Given the description of an element on the screen output the (x, y) to click on. 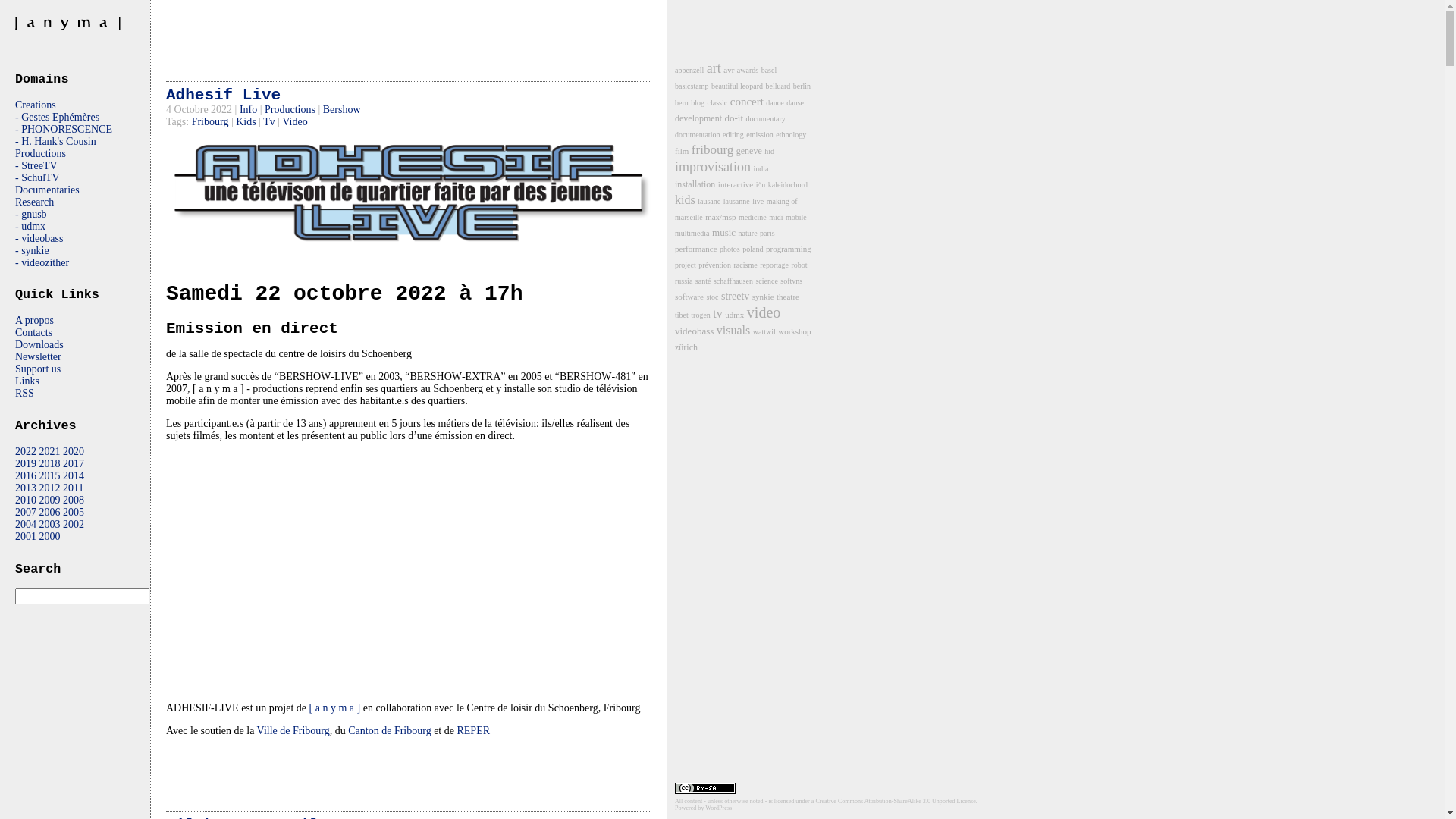
RSS Element type: text (24, 392)
- SchulTV Element type: text (37, 177)
2003 Element type: text (49, 524)
Canton de Fribourg Element type: text (389, 730)
2020 Element type: text (73, 451)
2015 Element type: text (49, 475)
2021 Element type: text (49, 451)
installation Element type: text (694, 183)
Fribourg Element type: text (210, 121)
documentation Element type: text (696, 134)
2008 Element type: text (73, 499)
making of Element type: text (781, 201)
- H. Hank's Cousin Element type: text (55, 141)
software Element type: text (688, 296)
2011 Element type: text (72, 487)
do-it Element type: text (733, 117)
india Element type: text (760, 168)
geneve Element type: text (749, 150)
Newsletter Element type: text (38, 356)
marseille Element type: text (688, 217)
reportage Element type: text (773, 264)
performance Element type: text (695, 248)
programming Element type: text (788, 248)
trogen Element type: text (700, 314)
2007 Element type: text (25, 511)
poland Element type: text (752, 248)
2001 Element type: text (25, 536)
- videobass Element type: text (38, 238)
russia Element type: text (683, 280)
ethnology Element type: text (790, 134)
2014 Element type: text (73, 475)
appenzell Element type: text (688, 69)
mobile Element type: text (795, 217)
Info Element type: text (248, 109)
2019 Element type: text (25, 463)
Links Element type: text (27, 380)
Productions Element type: text (289, 109)
bern Element type: text (681, 102)
2005 Element type: text (73, 511)
lausanne Element type: text (736, 201)
Contacts Element type: text (33, 332)
project Element type: text (685, 264)
fribourg Element type: text (712, 149)
2000 Element type: text (49, 536)
Kids Element type: text (245, 121)
improvisation Element type: text (712, 166)
2002 Element type: text (73, 524)
editing Element type: text (732, 134)
synkie Element type: text (763, 296)
Research Element type: text (34, 201)
concert Element type: text (746, 101)
REPER Element type: text (472, 730)
Adhesif Live Element type: text (223, 94)
- videozither Element type: text (42, 262)
dance Element type: text (774, 102)
theatre Element type: text (787, 296)
2012 Element type: text (49, 487)
emission Element type: text (759, 134)
Support us Element type: text (37, 368)
2022 Element type: text (25, 451)
racisme Element type: text (745, 264)
kaleidochord Element type: text (787, 184)
multimedia Element type: text (691, 233)
Documentaries Element type: text (47, 189)
art Element type: text (713, 67)
interactive Element type: text (735, 183)
2004 Element type: text (25, 524)
2010 Element type: text (25, 499)
classic Element type: text (717, 102)
go Element type: text (26, 612)
documentary Element type: text (765, 118)
film Element type: text (681, 150)
visuals Element type: text (732, 329)
Creative Commons Attribution-ShareAlike 3.0 Unported License Element type: text (895, 800)
Bershow Element type: text (341, 109)
development Element type: text (697, 117)
danse Element type: text (794, 102)
2009 Element type: text (49, 499)
- udmx Element type: text (30, 226)
Downloads Element type: text (39, 344)
2013 Element type: text (25, 487)
blog Element type: text (697, 102)
paris Element type: text (766, 233)
softvns Element type: text (791, 280)
belluard Element type: text (777, 85)
nature Element type: text (747, 233)
Productions Element type: text (40, 153)
workshop Element type: text (794, 330)
basicstamp Element type: text (691, 85)
kids Element type: text (684, 199)
[ a n y m a ] Element type: text (334, 707)
A propos Element type: text (34, 320)
beautiful leopard Element type: text (736, 85)
Ville de Fribourg Element type: text (293, 730)
Video Element type: text (294, 121)
max/msp Element type: text (720, 216)
WordPress Element type: text (718, 807)
2018 Element type: text (49, 463)
schaffhausen Element type: text (733, 280)
berlin Element type: text (801, 85)
wattwil Element type: text (764, 331)
streetv Element type: text (735, 295)
science Element type: text (766, 280)
tibet Element type: text (681, 314)
live Element type: text (757, 201)
hid Element type: text (769, 151)
- gnusb Element type: text (31, 213)
2017 Element type: text (73, 463)
robot Element type: text (798, 264)
lausane Element type: text (708, 201)
- StreeTV Element type: text (36, 165)
stoc Element type: text (712, 296)
Creations Element type: text (35, 104)
tv Element type: text (716, 313)
- PHONORESCENCE Element type: text (63, 128)
midi Element type: text (775, 217)
videobass Element type: text (693, 330)
- synkie Element type: text (32, 250)
awards Element type: text (747, 69)
2006 Element type: text (49, 511)
udmx Element type: text (733, 314)
music Element type: text (723, 232)
basel Element type: text (769, 69)
photos Element type: text (729, 248)
video Element type: text (763, 312)
avr Element type: text (728, 69)
2016 Element type: text (25, 475)
medicine Element type: text (752, 217)
Tv Element type: text (269, 121)
i^n Element type: text (760, 184)
